Given the description of an element on the screen output the (x, y) to click on. 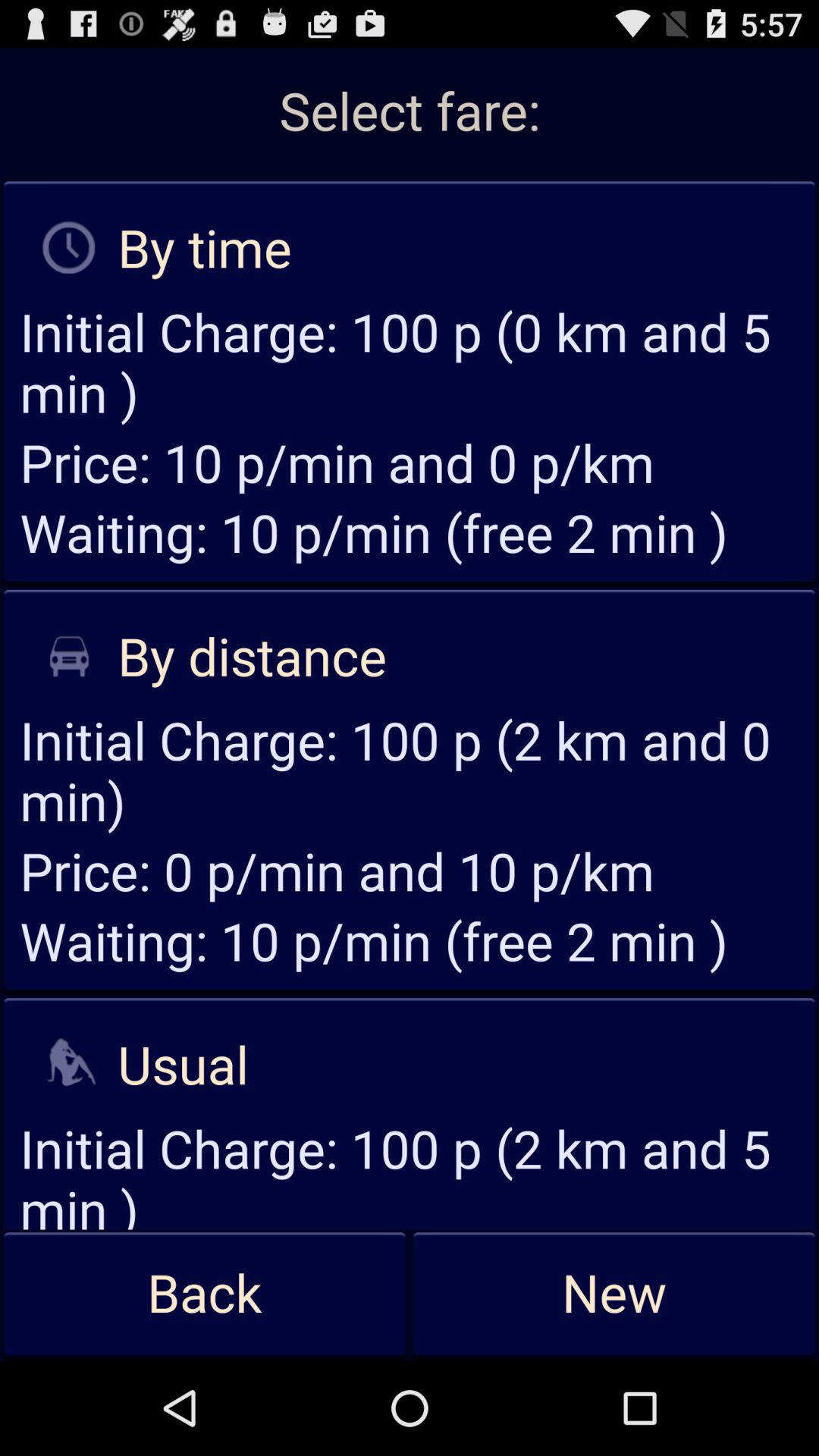
press the app below the initial charge 100 (204, 1294)
